Given the description of an element on the screen output the (x, y) to click on. 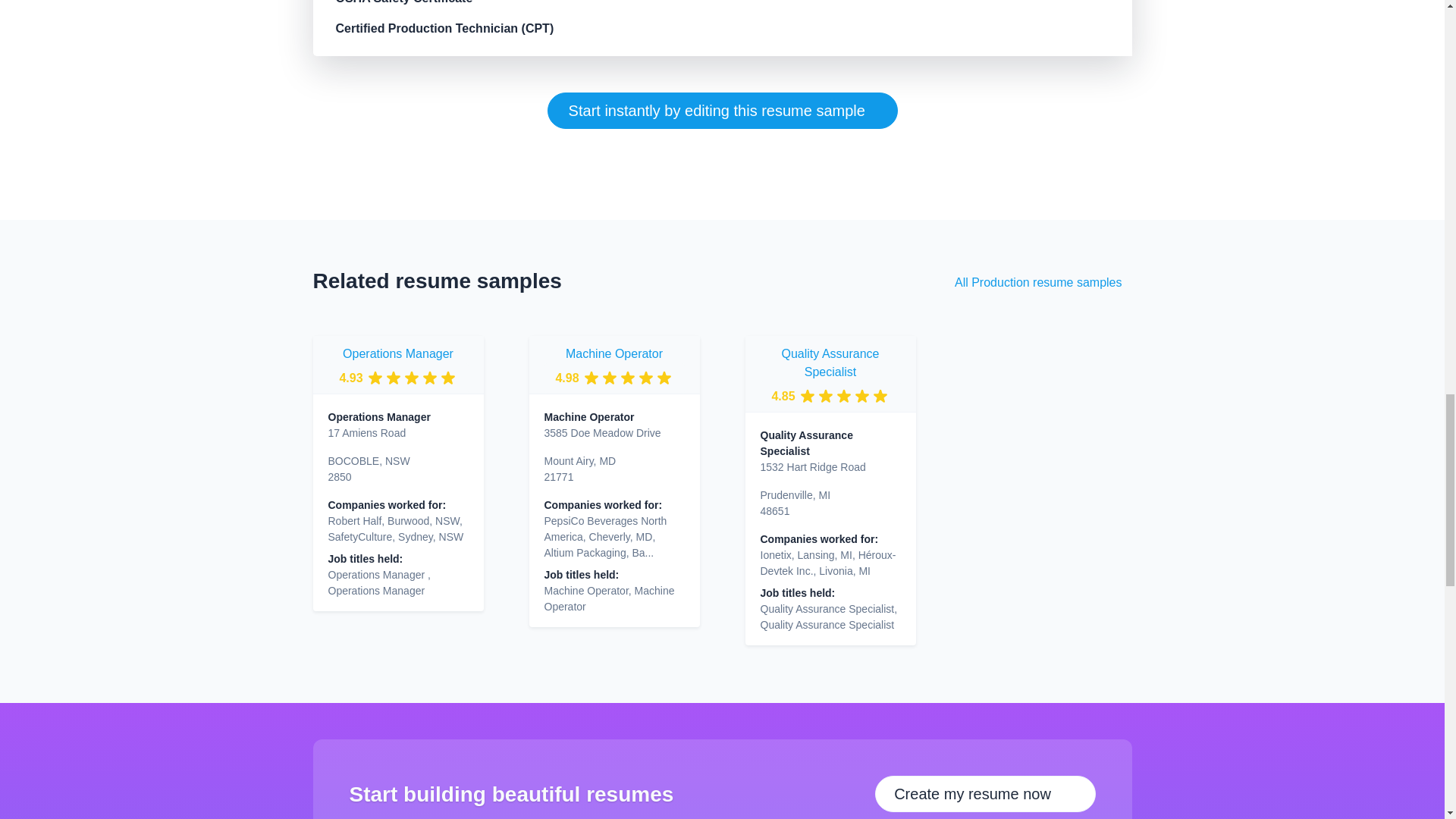
  Start instantly by editing this resume sample (722, 110)
All Production resume samples (1038, 282)
Create my resume now (984, 793)
